Given the description of an element on the screen output the (x, y) to click on. 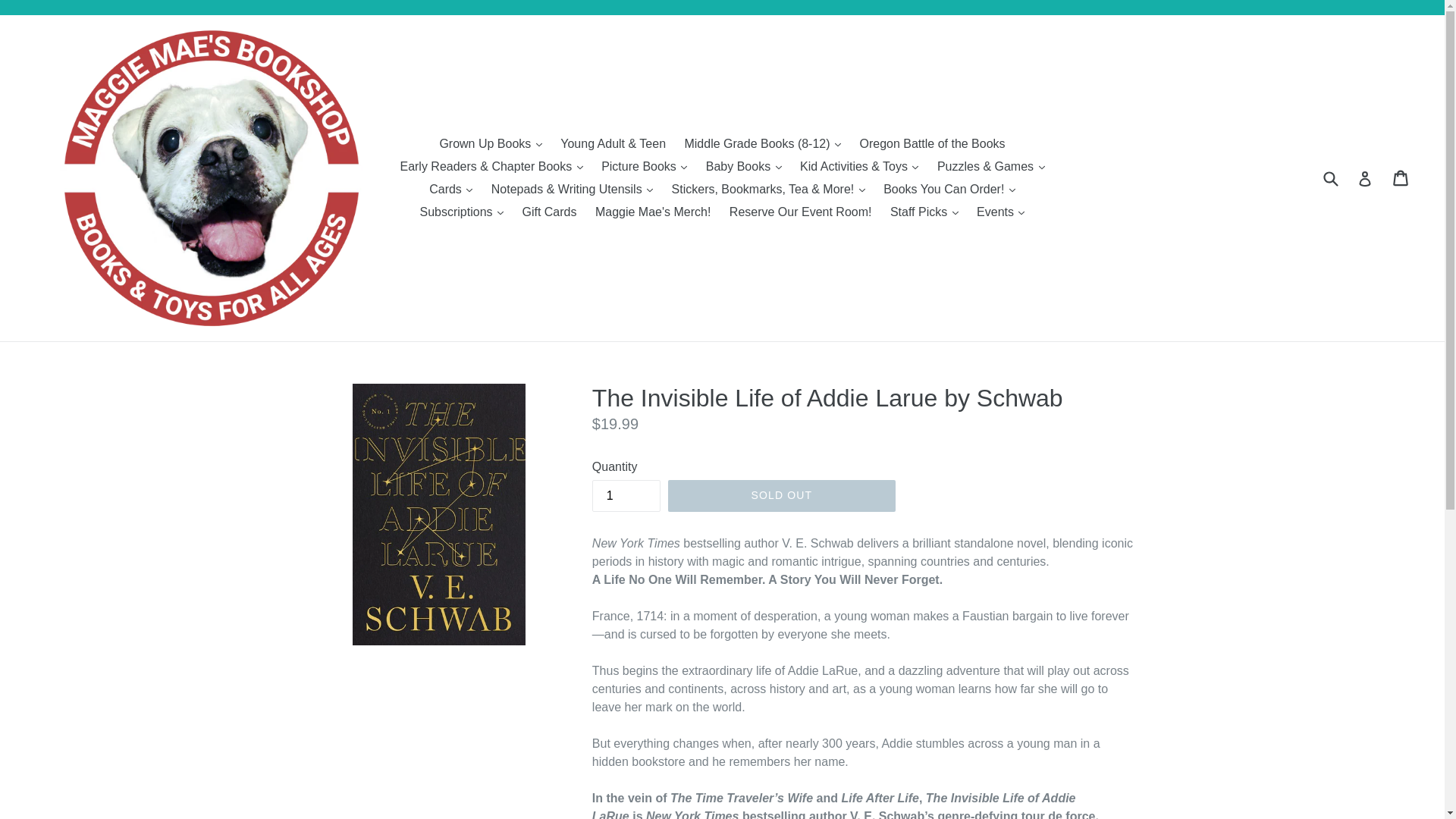
1 (626, 495)
